Given the description of an element on the screen output the (x, y) to click on. 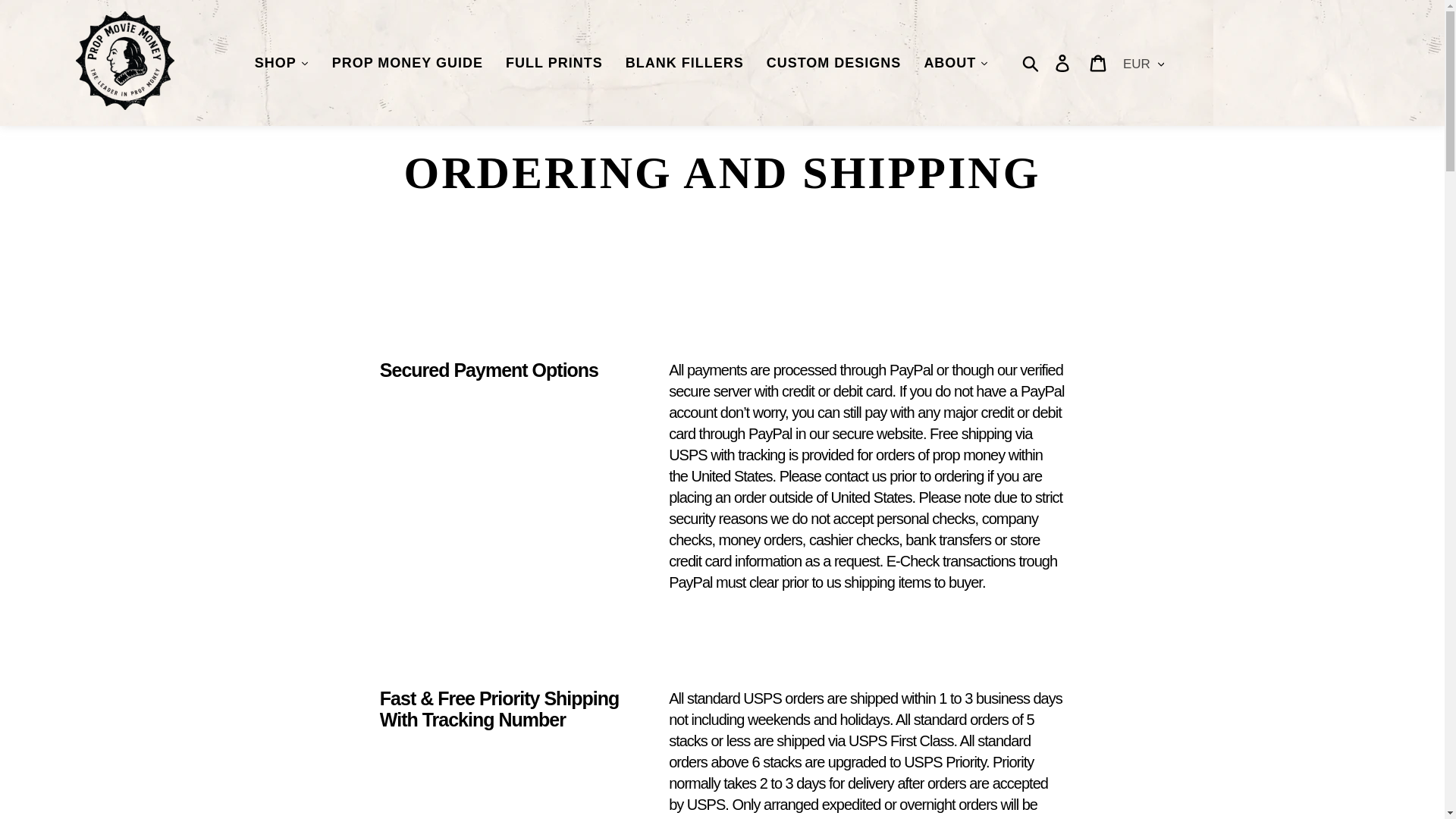
LiveChat chat widget (1401, 782)
Cart (1098, 62)
Search (1031, 62)
CUSTOM DESIGNS (833, 63)
BLANK FILLERS (684, 63)
CUSTOM DESIGNS (833, 63)
FULL PRINTS (554, 63)
SHOP (281, 63)
Log in (1063, 62)
 FULL PRINTS (554, 63)
SHOP (281, 63)
BLANK FILLERS (684, 63)
ABOUT (956, 63)
PROP MONEY GUIDE (407, 63)
ABOUT (956, 63)
